Given the description of an element on the screen output the (x, y) to click on. 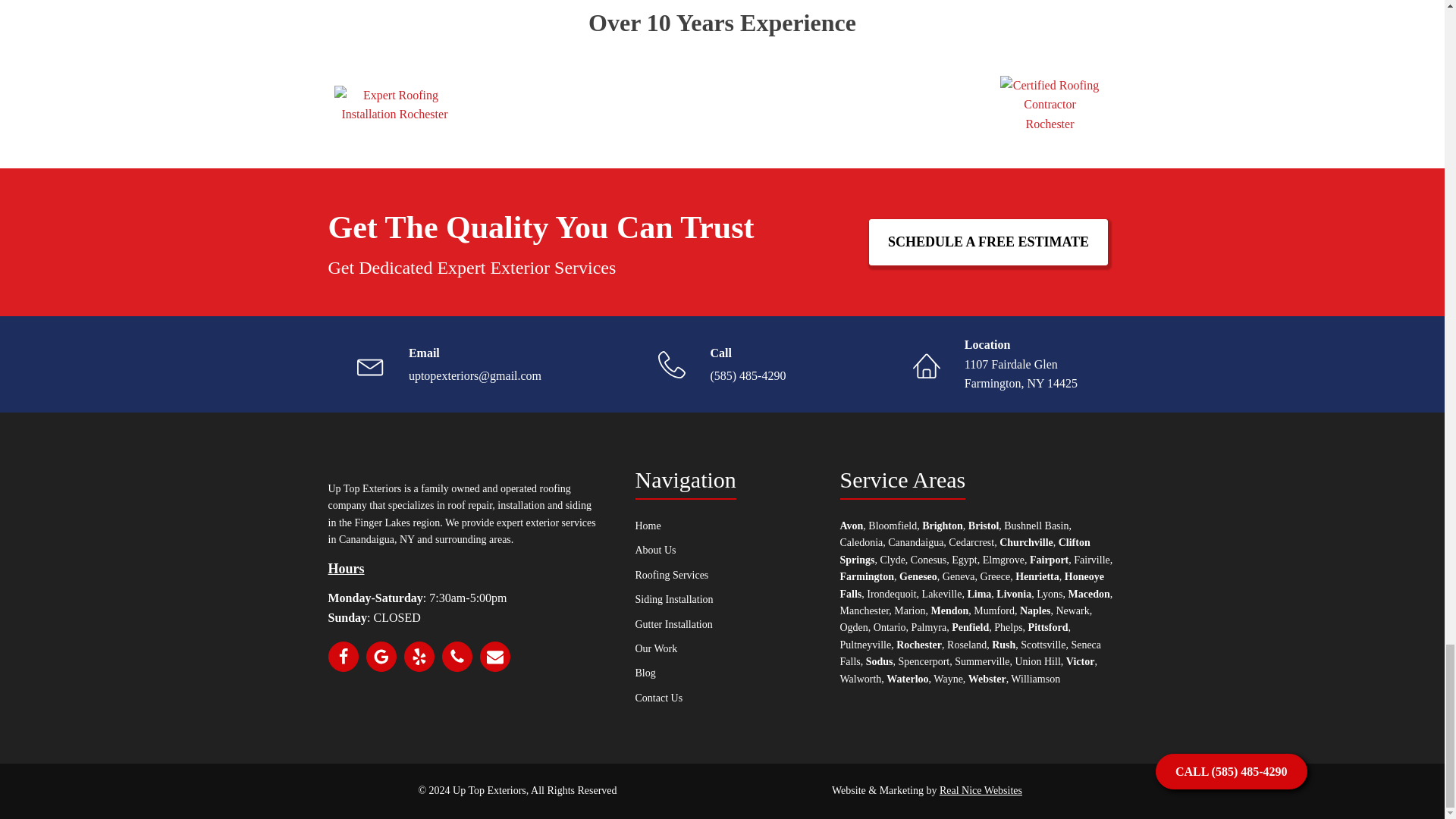
SCHEDULE A FREE ESTIMATE (988, 242)
